Given the description of an element on the screen output the (x, y) to click on. 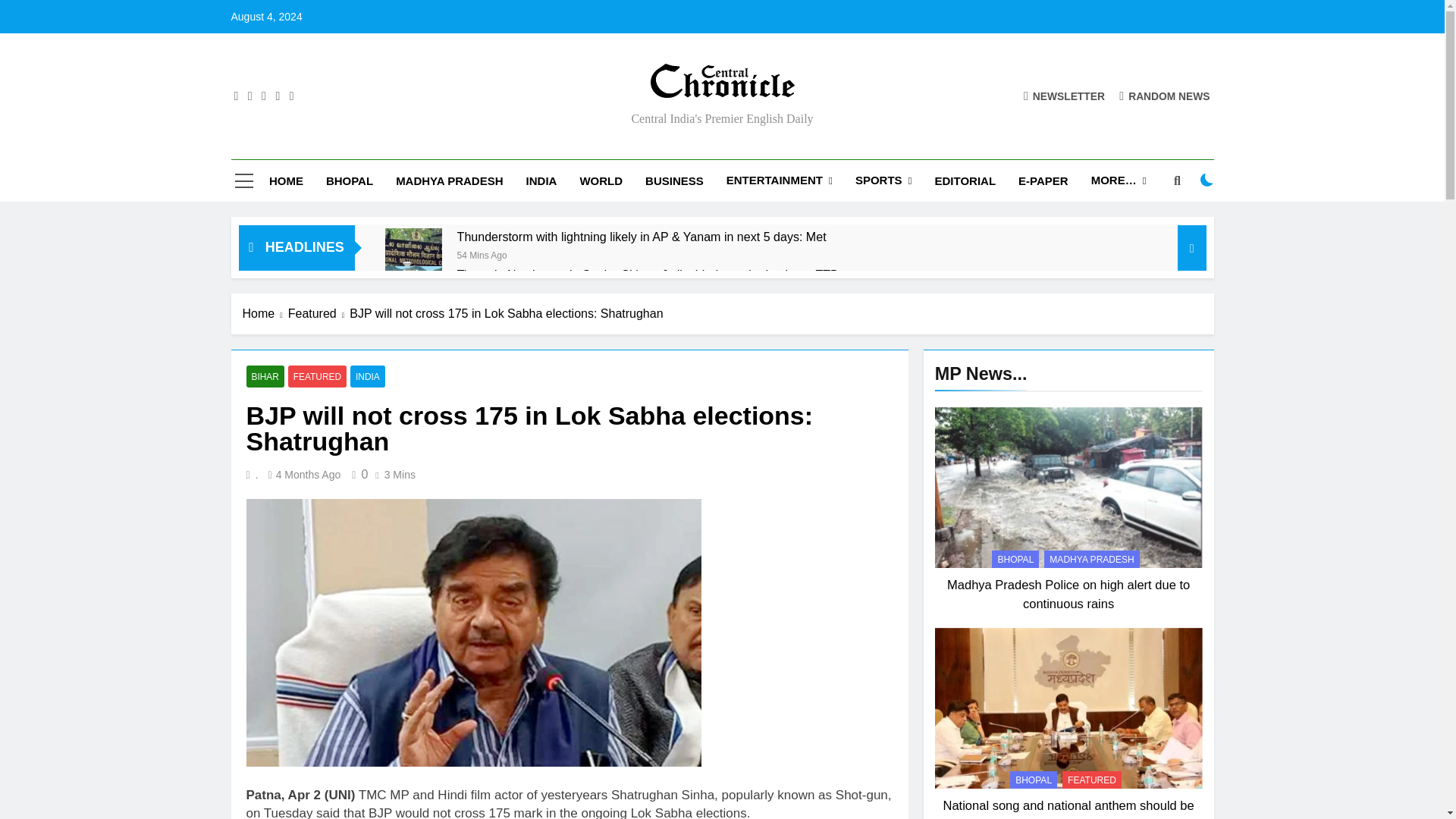
INDIA (542, 180)
WORLD (600, 180)
MADHYA PRADESH (448, 180)
RANDOM NEWS (1164, 95)
HOME (285, 180)
NEWSLETTER (1064, 95)
SPORTS (883, 180)
ENTERTAINMENT (779, 180)
Central India'S Premier English Daily (560, 109)
EDITORIAL (965, 180)
on (1206, 179)
BUSINESS (673, 180)
E-PAPER (1043, 180)
BHOPAL (349, 180)
